Given the description of an element on the screen output the (x, y) to click on. 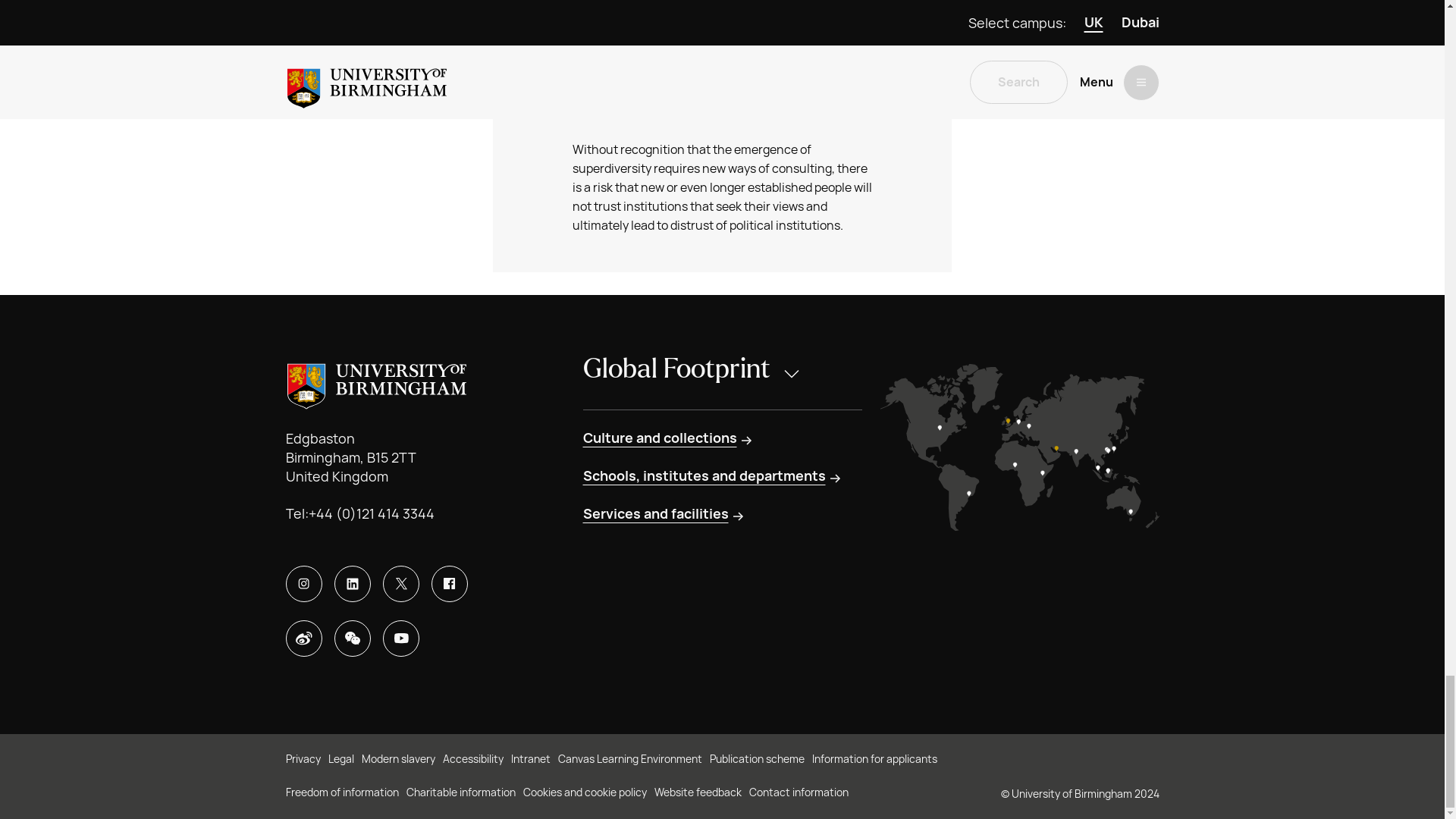
Cookies and cookie policy (584, 792)
Contact information (798, 792)
Schools, institutes and departments (712, 476)
Canvas Learning Environment (629, 760)
Publication scheme (757, 760)
Services and facilities (663, 514)
Culture and collections (668, 437)
Modern slavery (397, 760)
Privacy (302, 760)
Website feedback (697, 792)
Accessibility (472, 760)
Charitable information (460, 792)
Information for applicants (873, 760)
Freedom of information (341, 792)
Legal (340, 760)
